Given the description of an element on the screen output the (x, y) to click on. 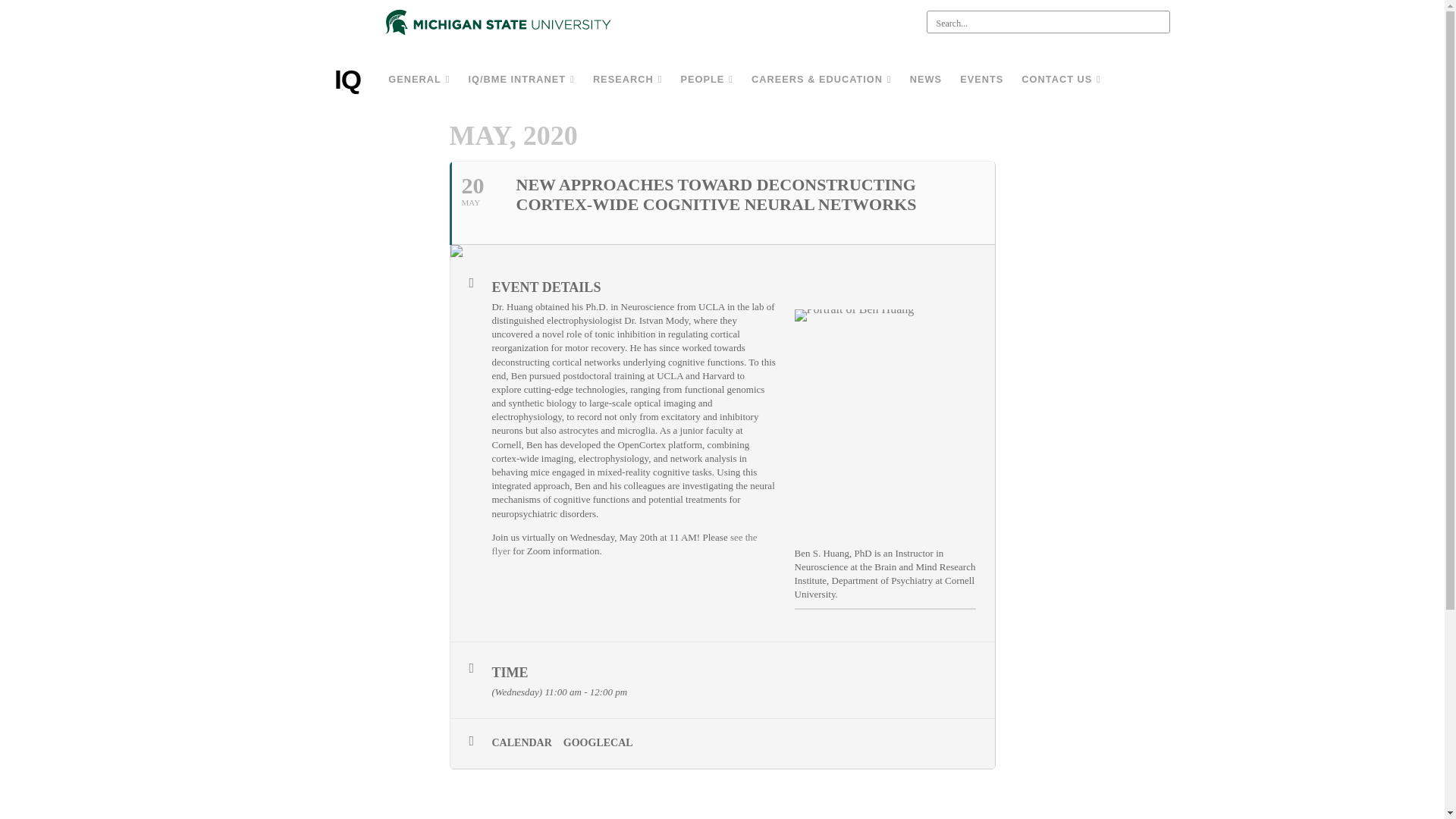
Add to your calendar (527, 743)
RESEARCH (627, 79)
PEOPLE (706, 79)
Add to google calendar (604, 743)
GENERAL (418, 79)
